Given the description of an element on the screen output the (x, y) to click on. 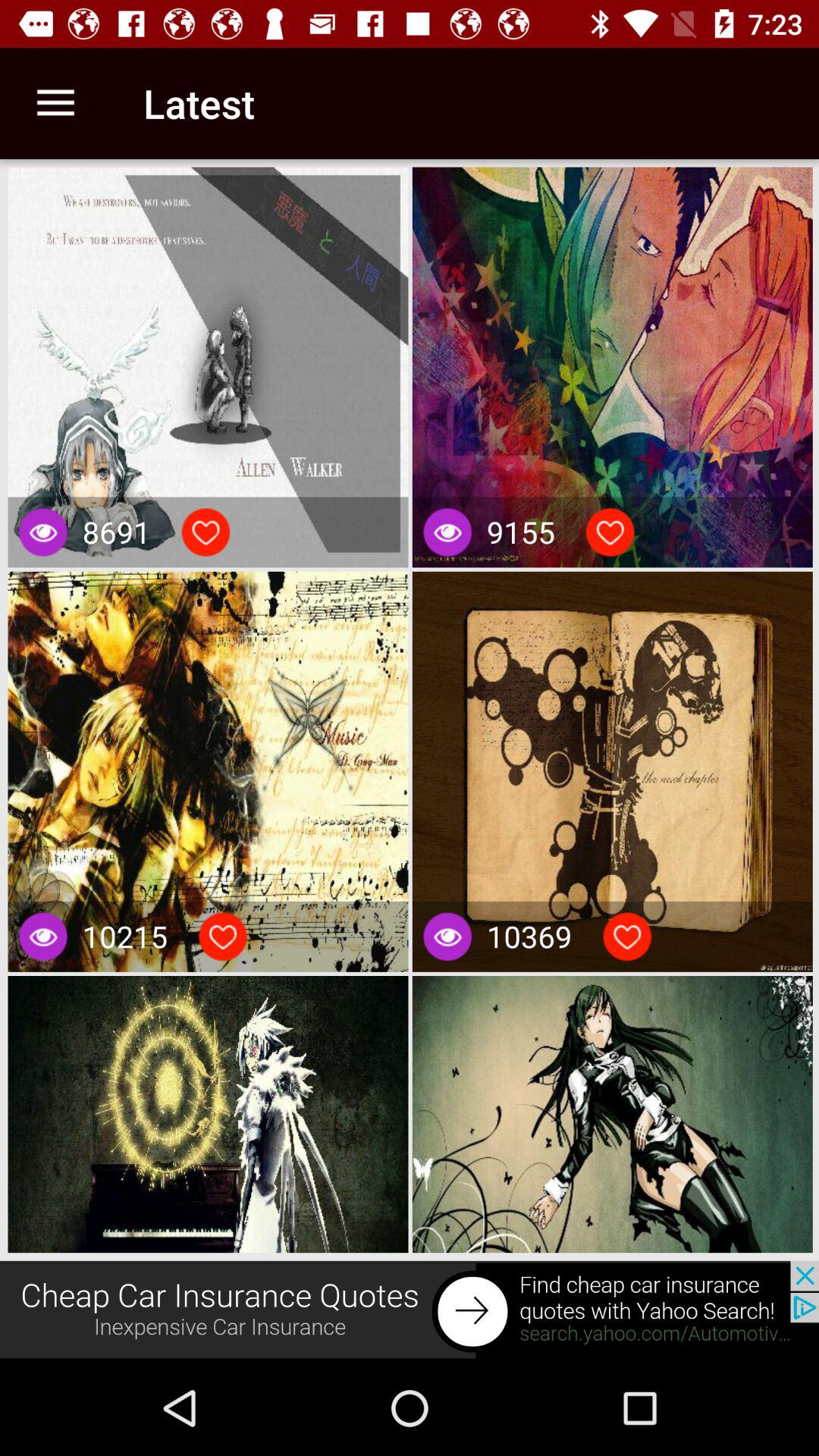
select fourth image (612, 772)
click on the first image (208, 367)
click on the icon left to the text 8691 (42, 531)
